Given the description of an element on the screen output the (x, y) to click on. 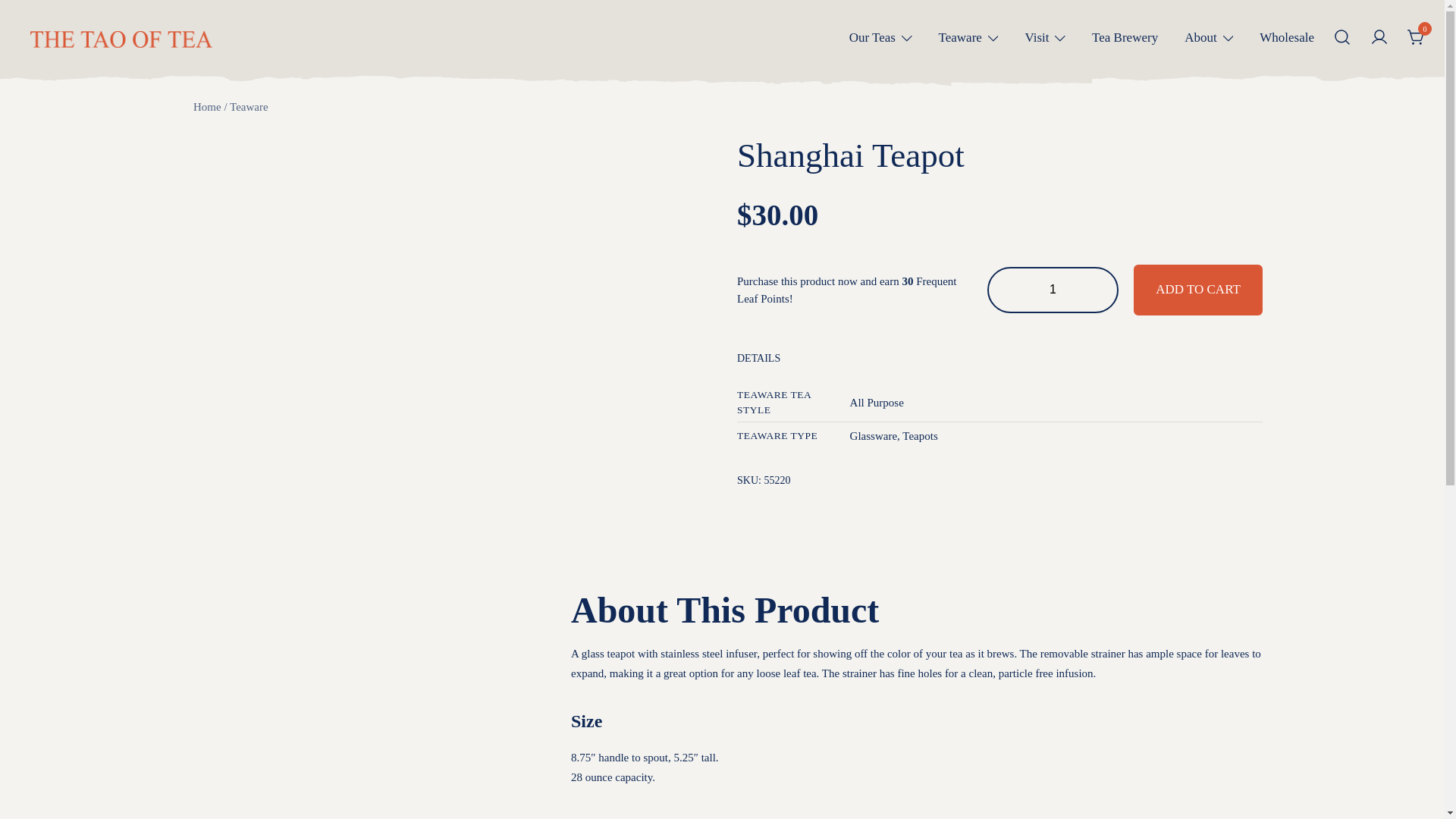
Our Teas (871, 37)
Teaware (960, 37)
The Tao Of Tea (77, 64)
View your shopping cart (1416, 36)
1 (1052, 290)
